Given the description of an element on the screen output the (x, y) to click on. 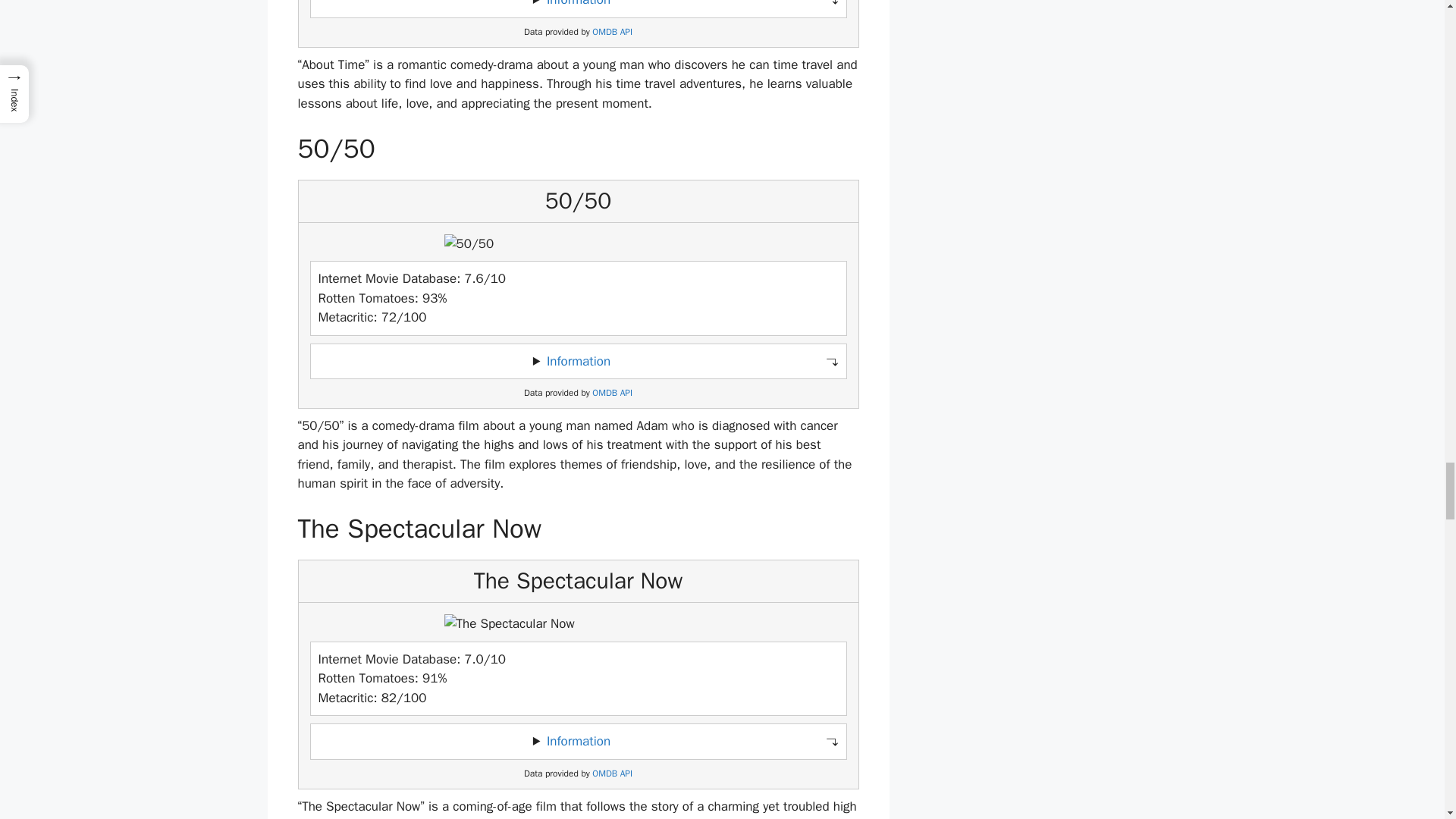
OMDB API (611, 773)
OMDB API (611, 392)
Information (578, 360)
Information (578, 3)
OMDB API (611, 31)
Information (578, 741)
